Given the description of an element on the screen output the (x, y) to click on. 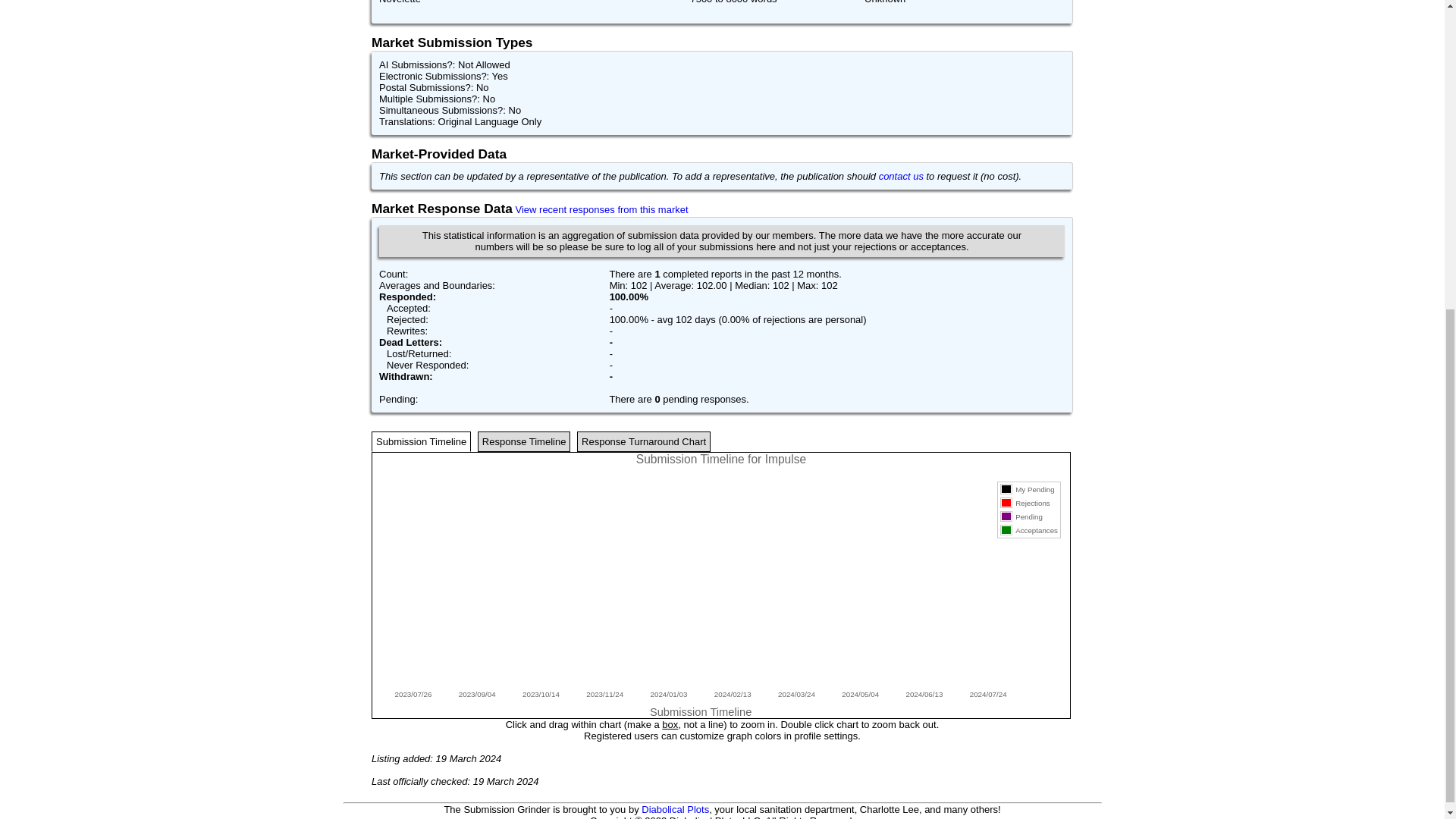
Diabolical Plots (675, 808)
Response Turnaround Chart (643, 441)
Response Timeline (523, 441)
Submission Timeline (420, 441)
contact us (901, 175)
View recent responses from this market (601, 209)
